Given the description of an element on the screen output the (x, y) to click on. 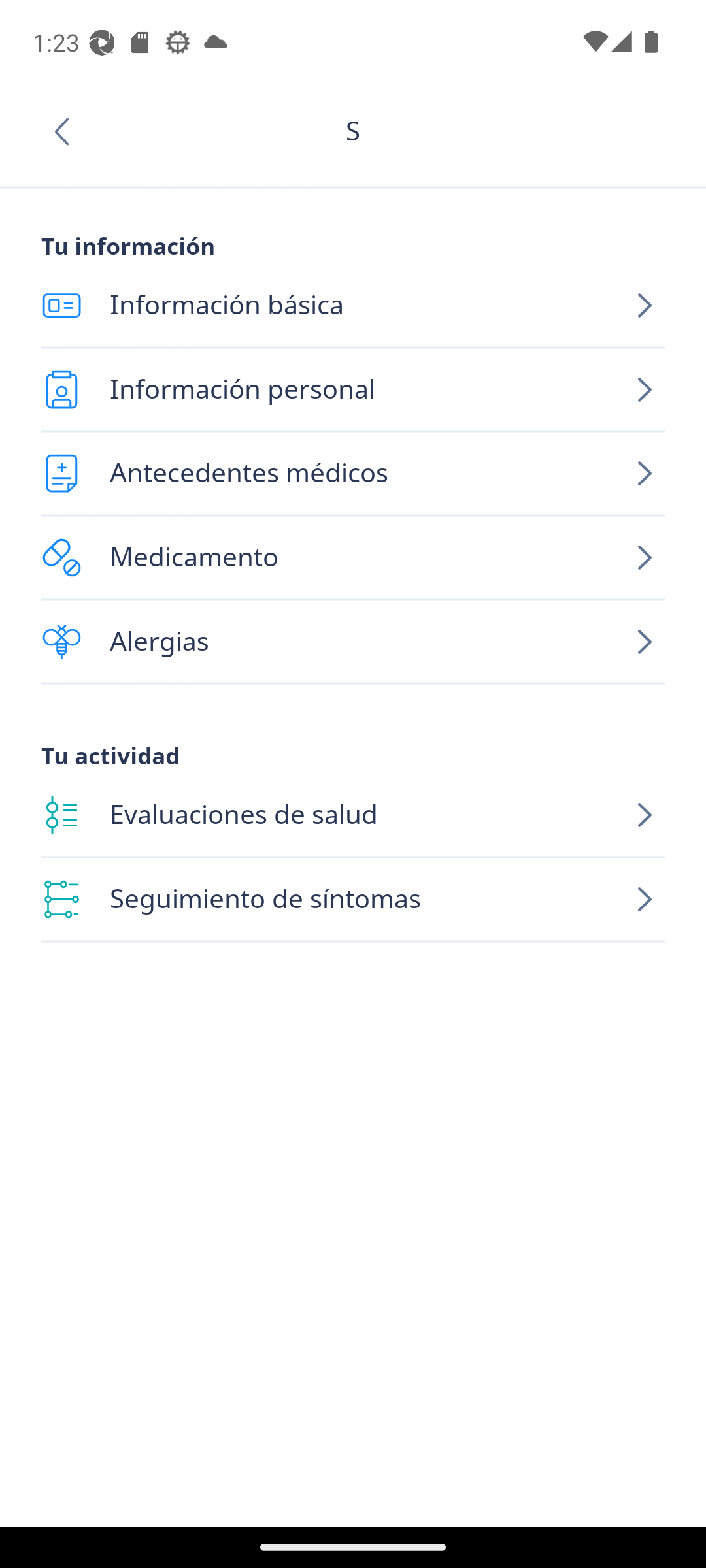
Go back, Navigates to the previous screen (68, 131)
Información básica (352, 305)
Información personal (352, 389)
Antecedentes médicos (352, 473)
Medicamento (352, 557)
Alergias (352, 641)
Evaluaciones de salud (352, 815)
Seguimiento de síntomas (352, 899)
